Given the description of an element on the screen output the (x, y) to click on. 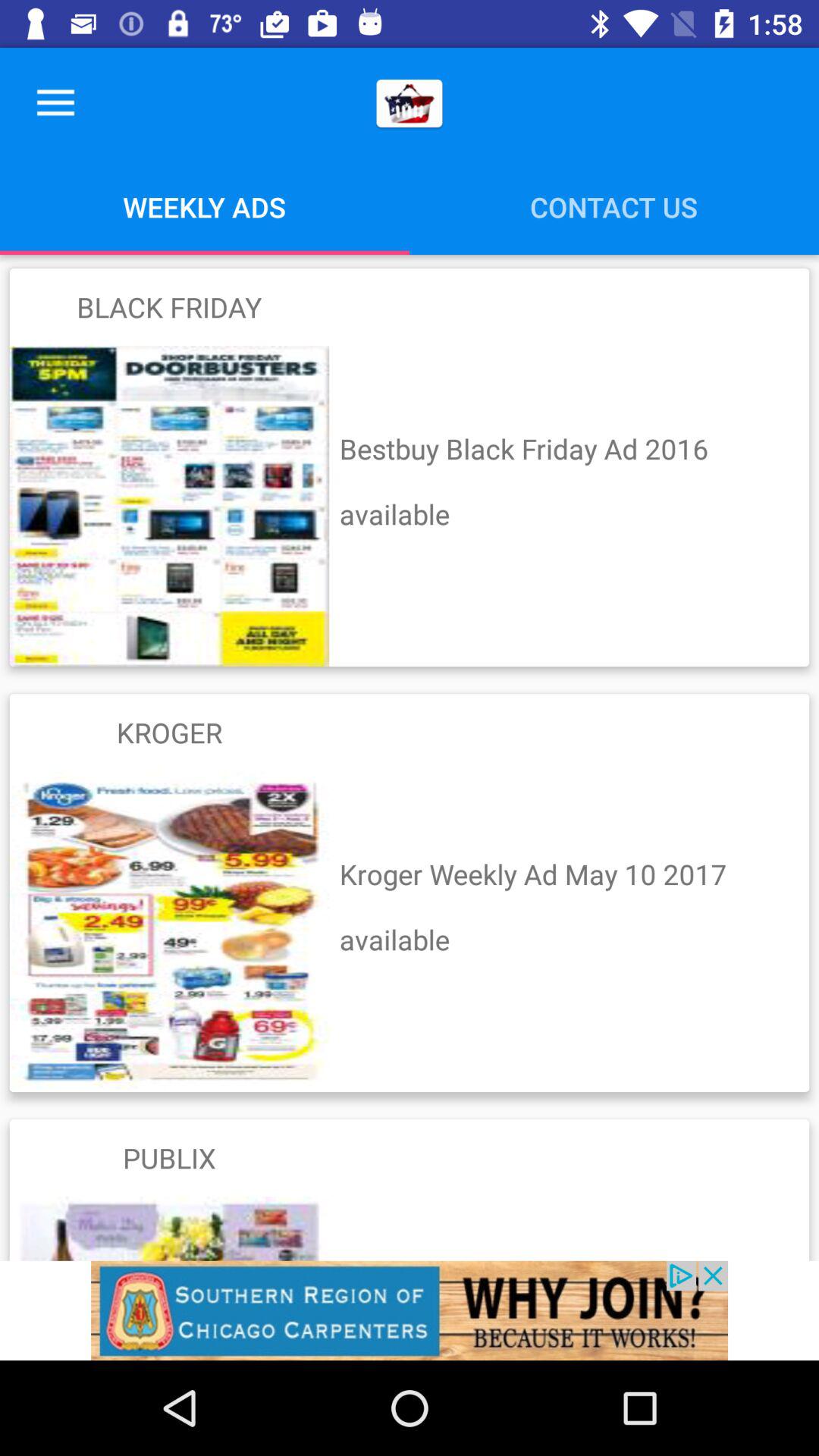
go to the image below kroger (169, 931)
click on the image which is below publix (169, 1228)
